Given the description of an element on the screen output the (x, y) to click on. 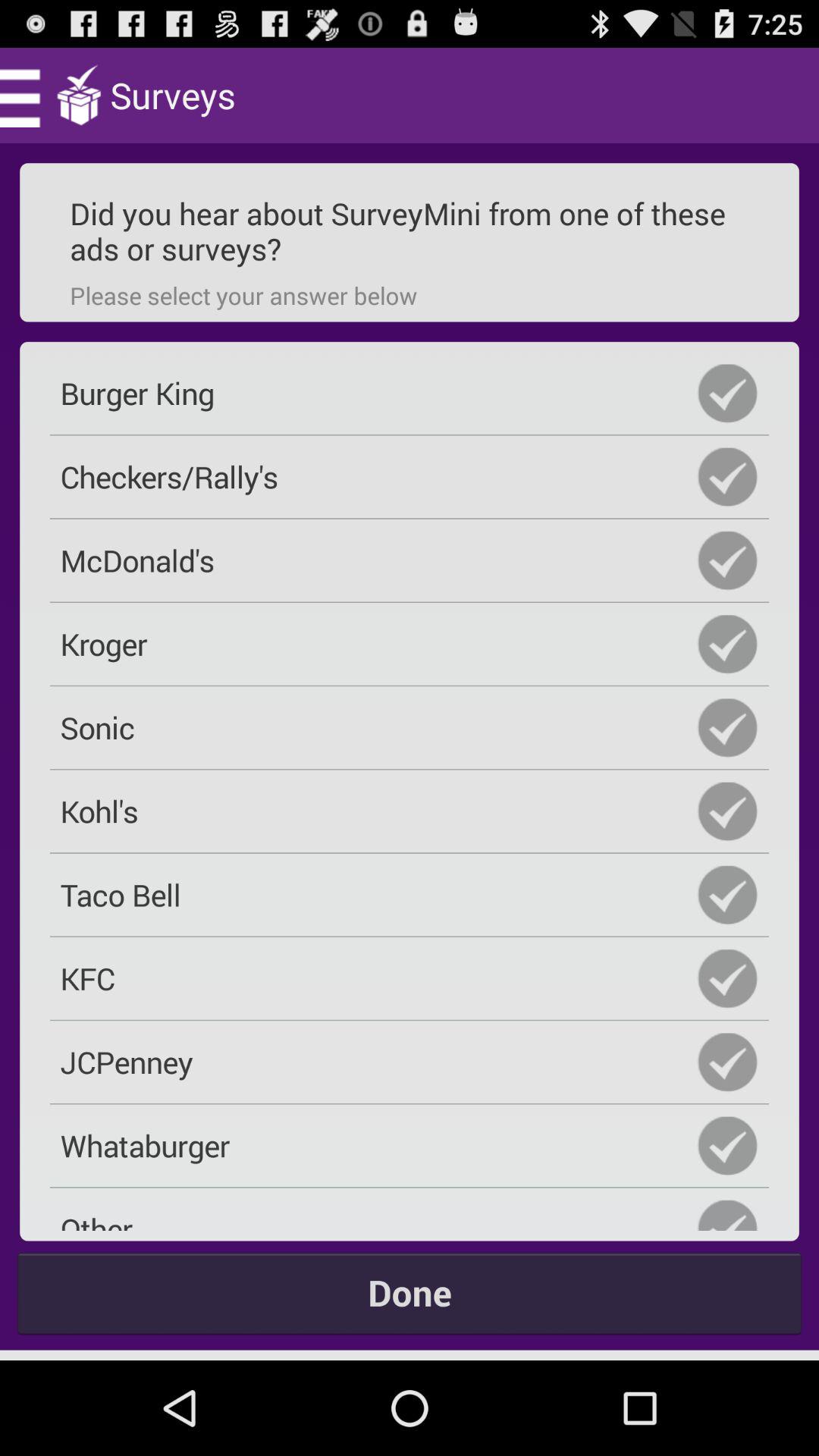
open icon below the whataburger item (409, 1214)
